Given the description of an element on the screen output the (x, y) to click on. 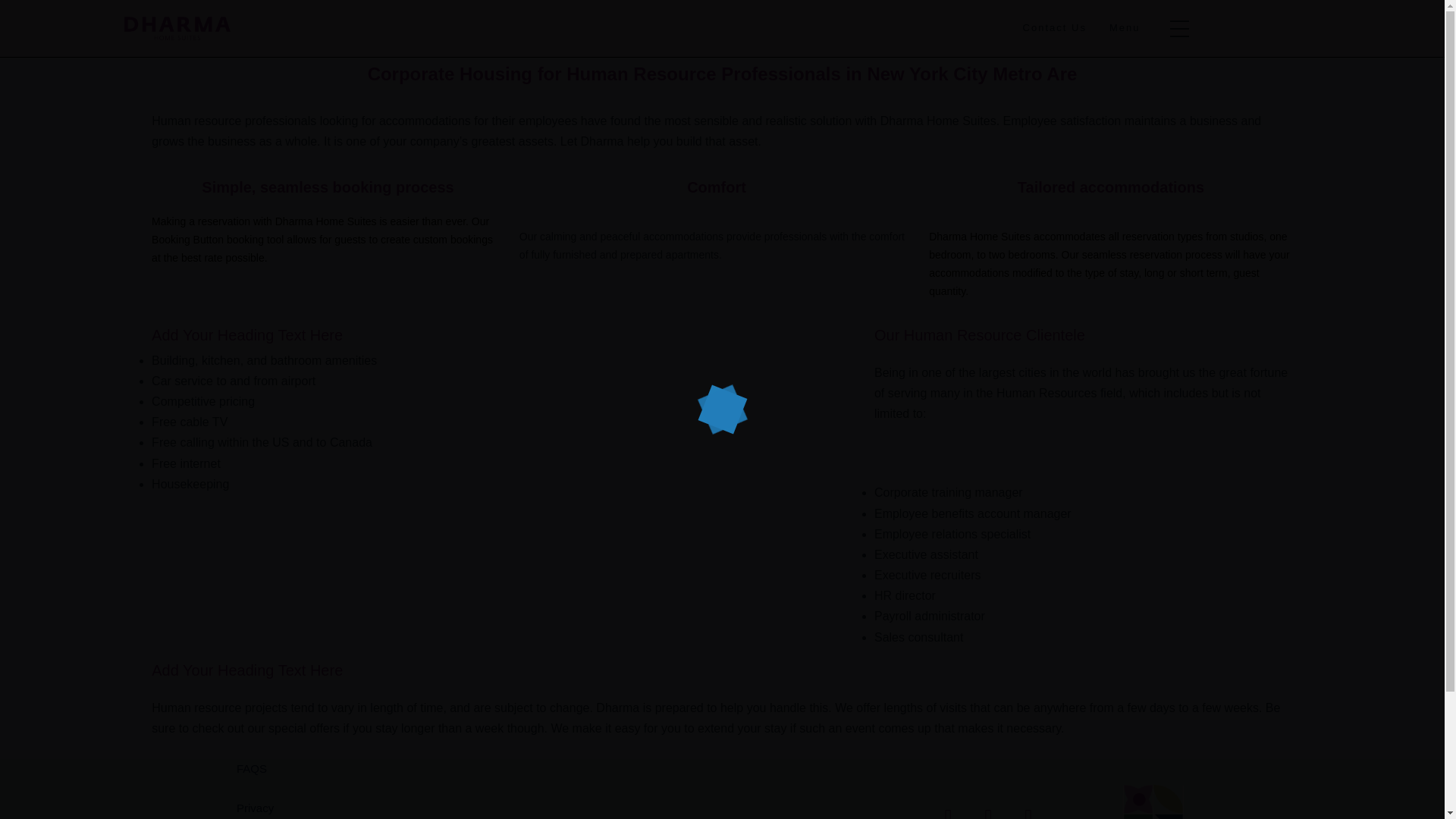
FAQS (322, 768)
Contact Us (1054, 27)
Menu (1124, 27)
Privacy (322, 808)
